Given the description of an element on the screen output the (x, y) to click on. 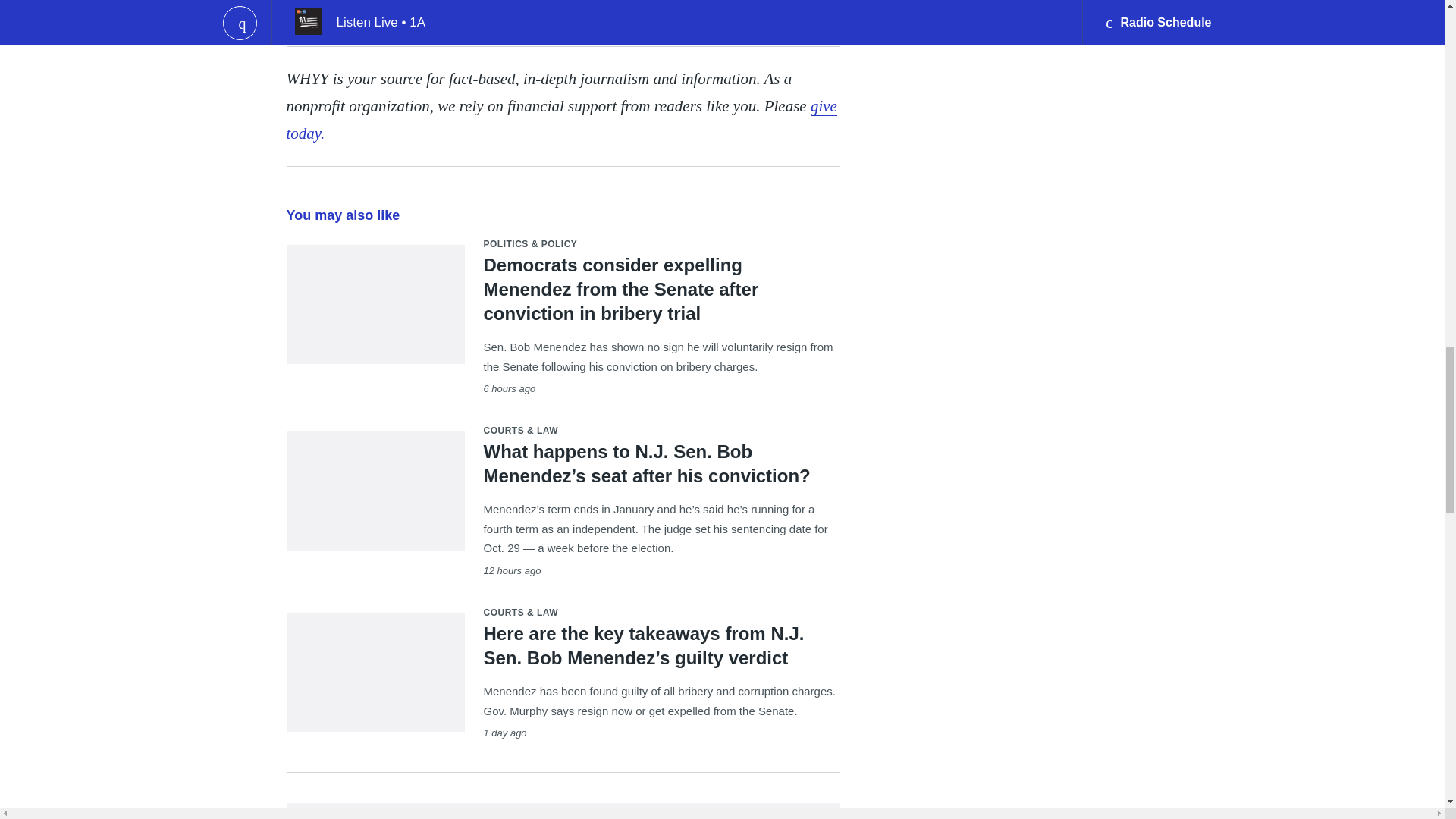
Email (418, 9)
Twitter (387, 9)
Facebook (357, 9)
